Given the description of an element on the screen output the (x, y) to click on. 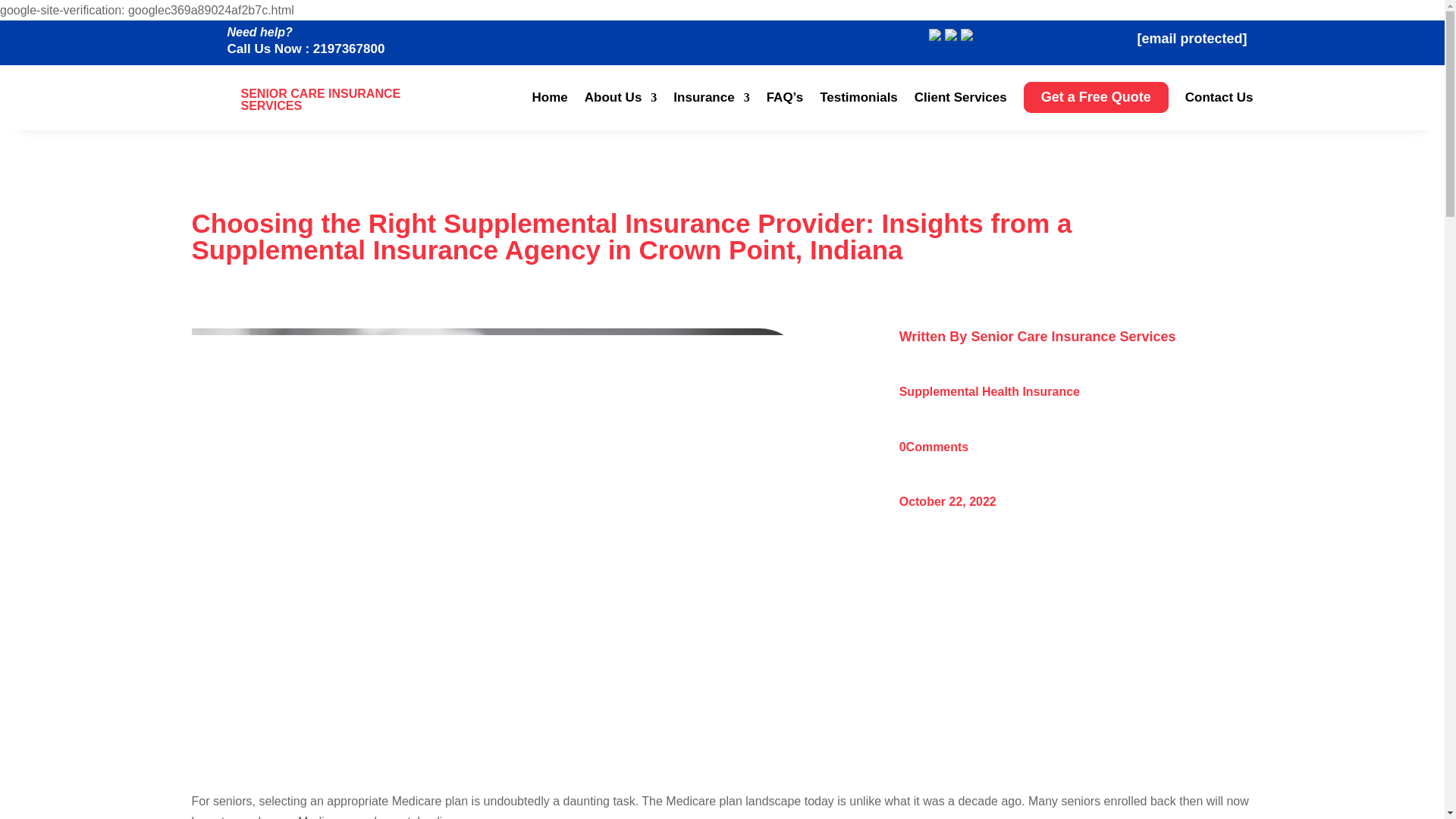
Get a Free Quote (1096, 101)
Client Services (960, 101)
Insurance (710, 101)
About Us (621, 101)
SENIOR CARE INSURANCE SERVICES (321, 99)
Home (549, 101)
Need help? (259, 31)
Contact Us (1219, 101)
Testimonials (858, 101)
